Given the description of an element on the screen output the (x, y) to click on. 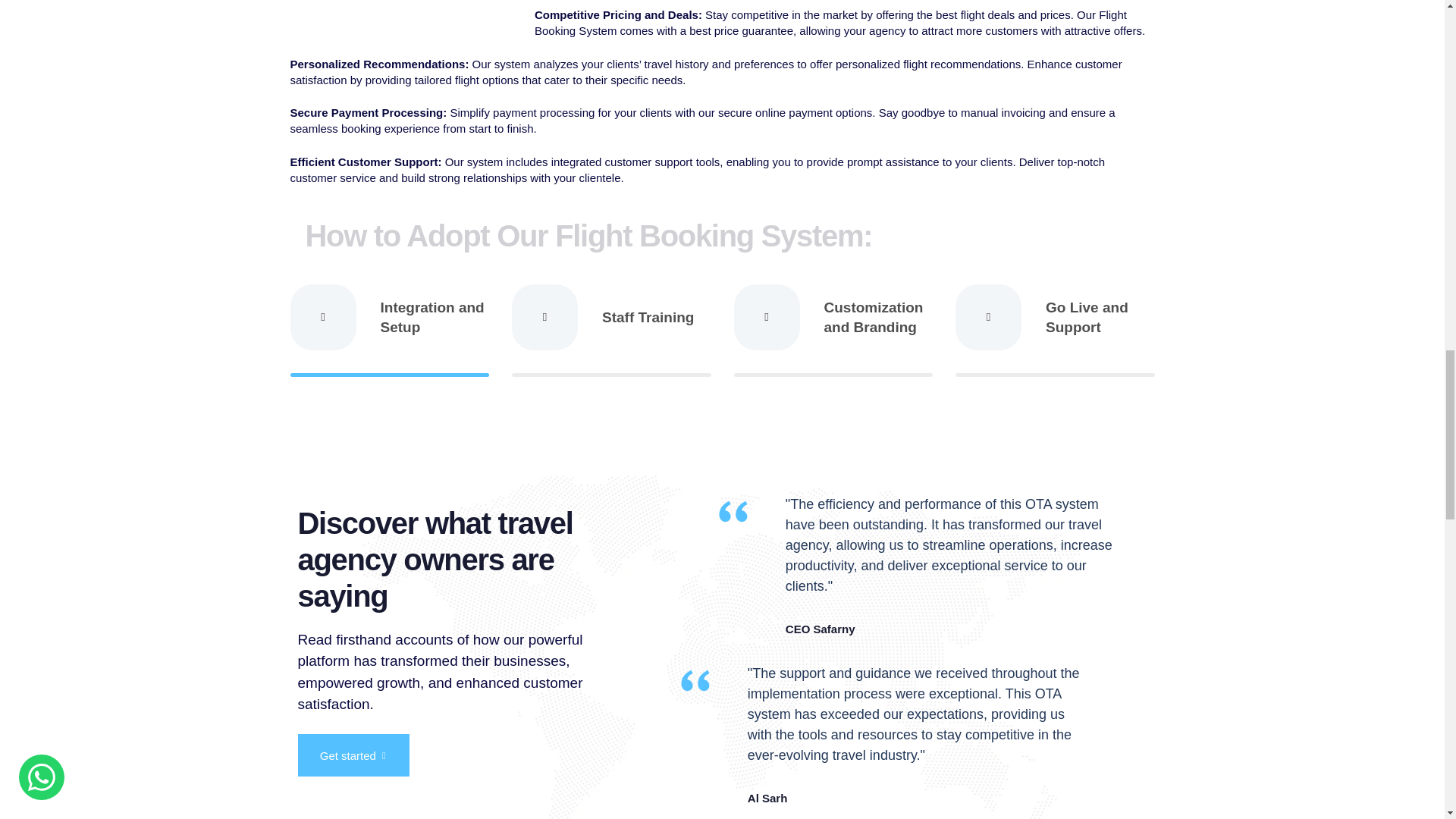
Staff Training (611, 330)
Go Live and Support (1054, 330)
Get started (353, 754)
Customization and Branding (833, 330)
Integration and Setup (389, 330)
